Given the description of an element on the screen output the (x, y) to click on. 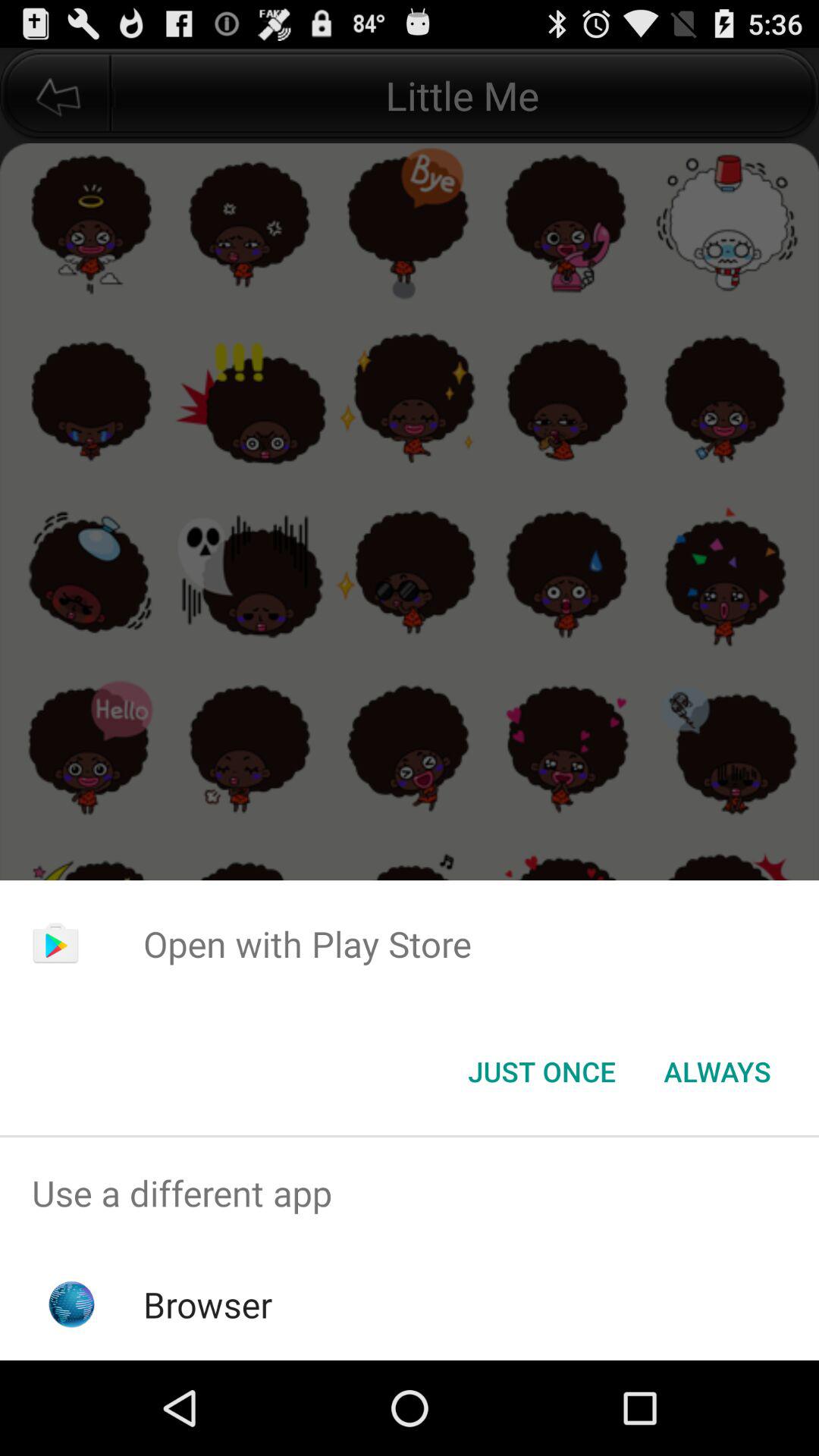
press the item below the use a different item (207, 1304)
